Given the description of an element on the screen output the (x, y) to click on. 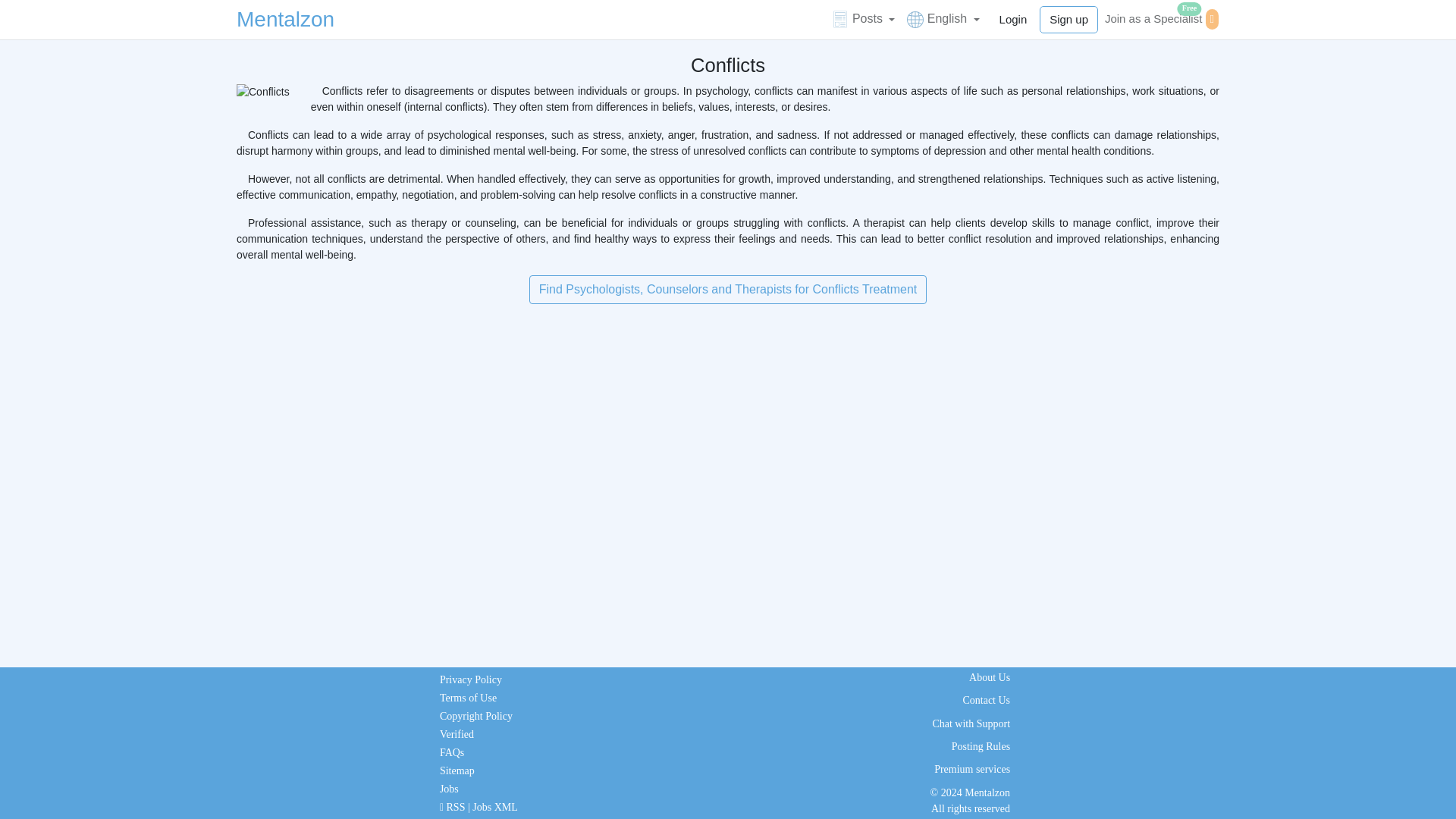
Sign up (1068, 19)
Conflicts (262, 91)
English (942, 19)
Mentalzon (1160, 19)
Posts (284, 20)
Login (863, 19)
Add specialist profile online (1013, 19)
Mentalzon (1160, 19)
